Given the description of an element on the screen output the (x, y) to click on. 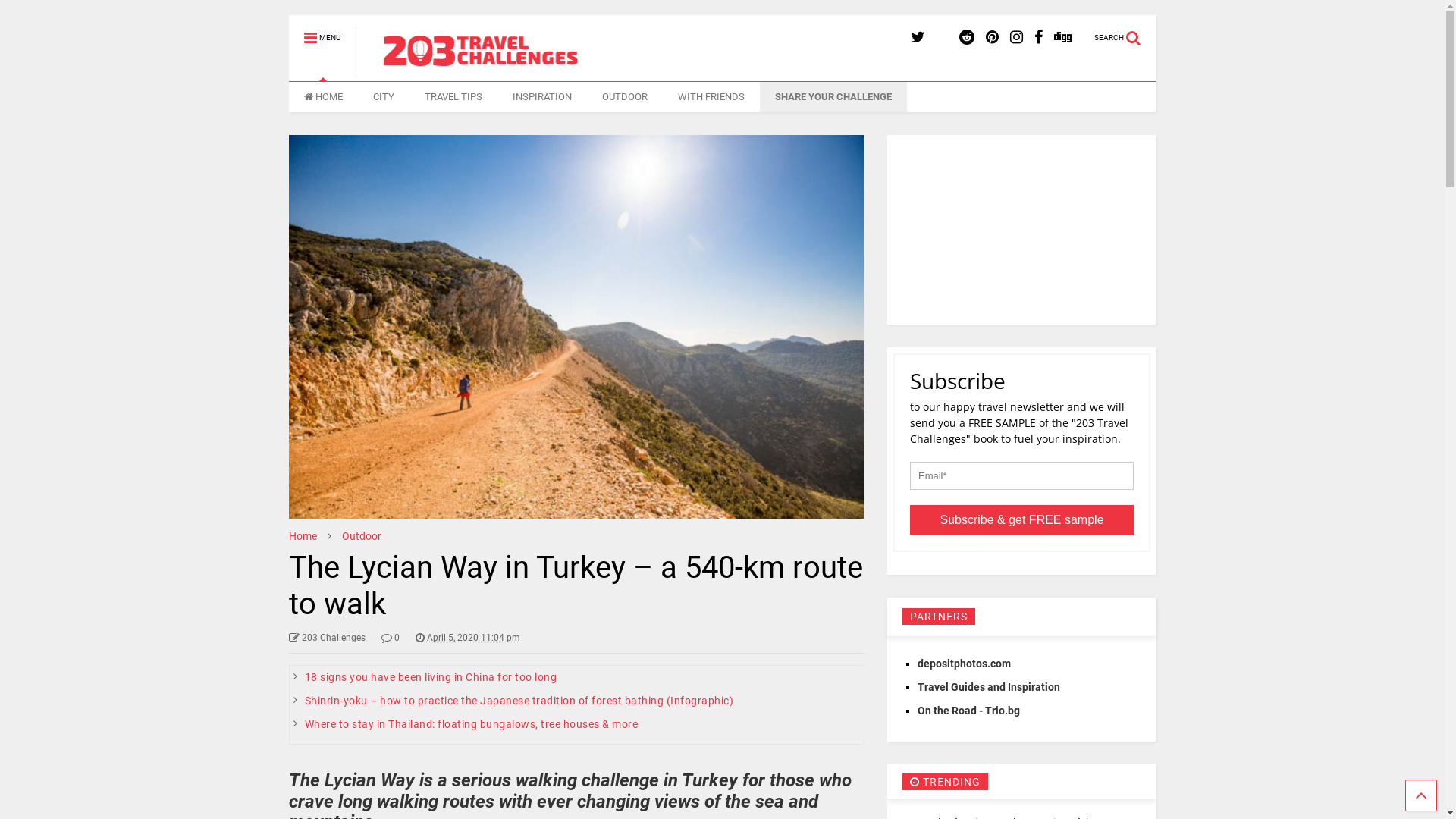
Twitter Element type: hover (917, 37)
WITH FRIENDS Element type: text (710, 96)
Facebook Element type: hover (1038, 37)
depositphotos.com Element type: text (963, 663)
203 Challenges Element type: text (326, 637)
SHARE YOUR CHALLENGE Element type: text (832, 96)
Instagram Element type: hover (1016, 37)
0 Element type: text (390, 637)
CITY Element type: text (383, 96)
SEARCH Element type: text (1124, 31)
Travel Guides and Inspiration Element type: text (988, 686)
MENU Element type: text (321, 31)
18 signs you have been living in China for too long Element type: text (430, 677)
203Challenges Element type: hover (503, 69)
OUTDOOR Element type: text (624, 96)
Pinterest Element type: hover (991, 37)
HOME Element type: text (322, 96)
INSPIRATION Element type: text (541, 96)
Outdoor Element type: text (361, 536)
Digg Element type: hover (1062, 37)
Reddit Element type: hover (966, 37)
Home Element type: text (302, 536)
On the Road - Trio.bg Element type: text (968, 710)
TRAVEL TIPS Element type: text (453, 96)
April 5, 2020 11:04 pm Element type: text (467, 637)
